Given the description of an element on the screen output the (x, y) to click on. 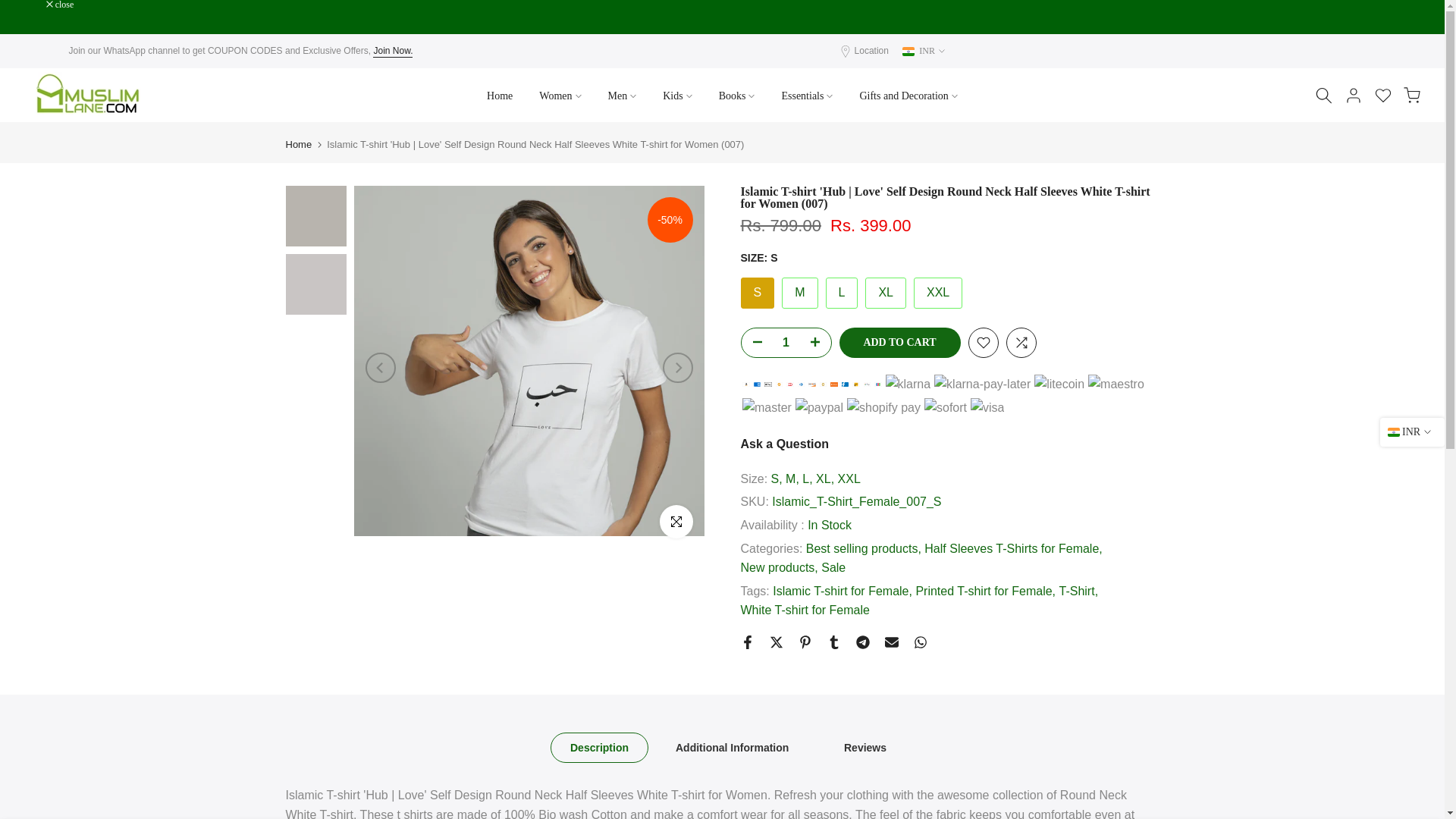
Kids (676, 95)
Skip to content (10, 7)
ADD TO CART (898, 342)
Share on Email (890, 642)
Home (499, 95)
Share on Tumblr (833, 642)
Share on Twitter (775, 642)
1 (786, 342)
Location (871, 50)
Home (298, 144)
